Given the description of an element on the screen output the (x, y) to click on. 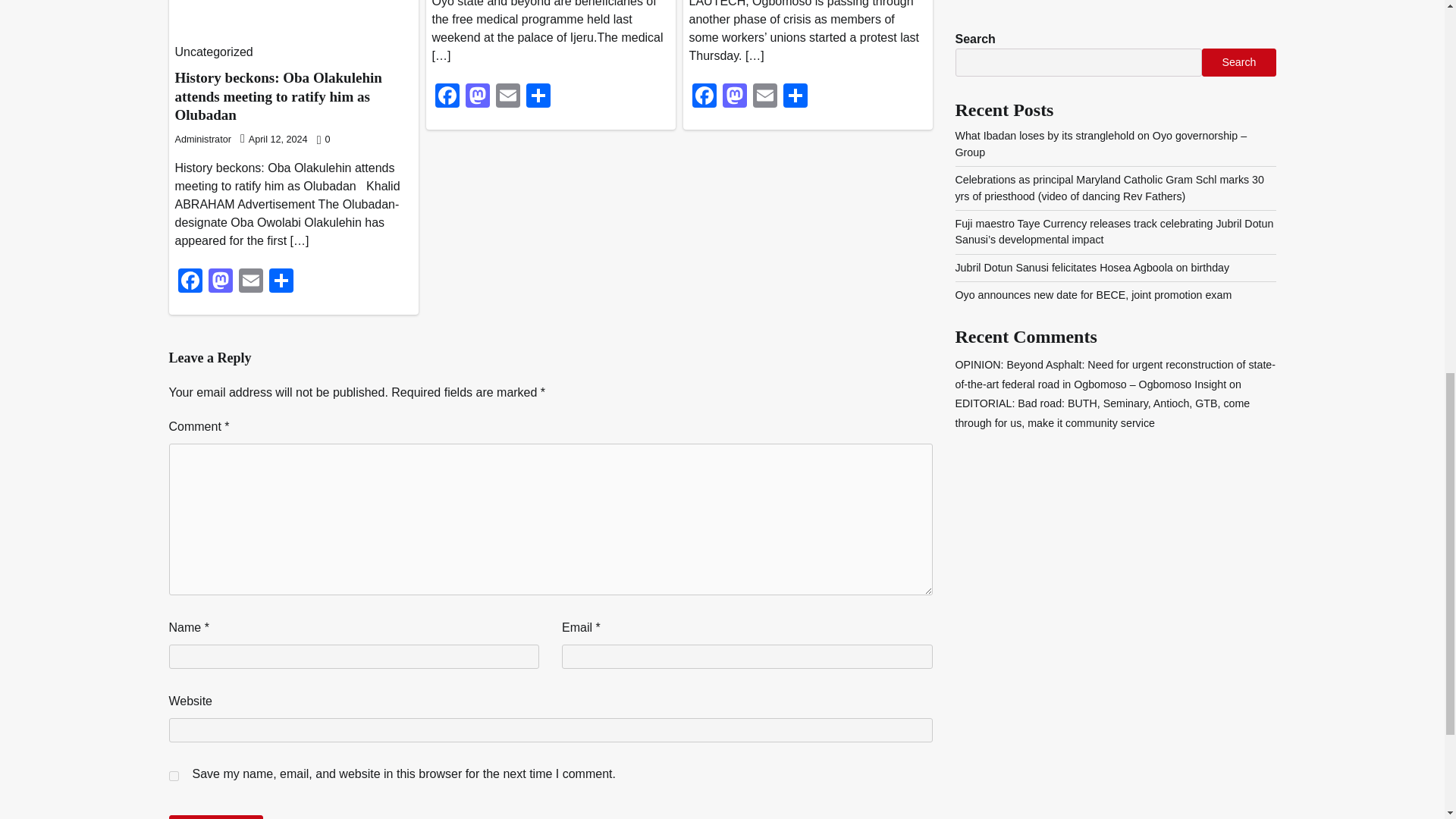
Facebook (703, 97)
Email (507, 97)
yes (172, 776)
Administrator (202, 139)
Mastodon (478, 97)
Email (249, 282)
Post Comment (215, 816)
Email (507, 97)
Mastodon (219, 282)
Mastodon (734, 97)
